Given the description of an element on the screen output the (x, y) to click on. 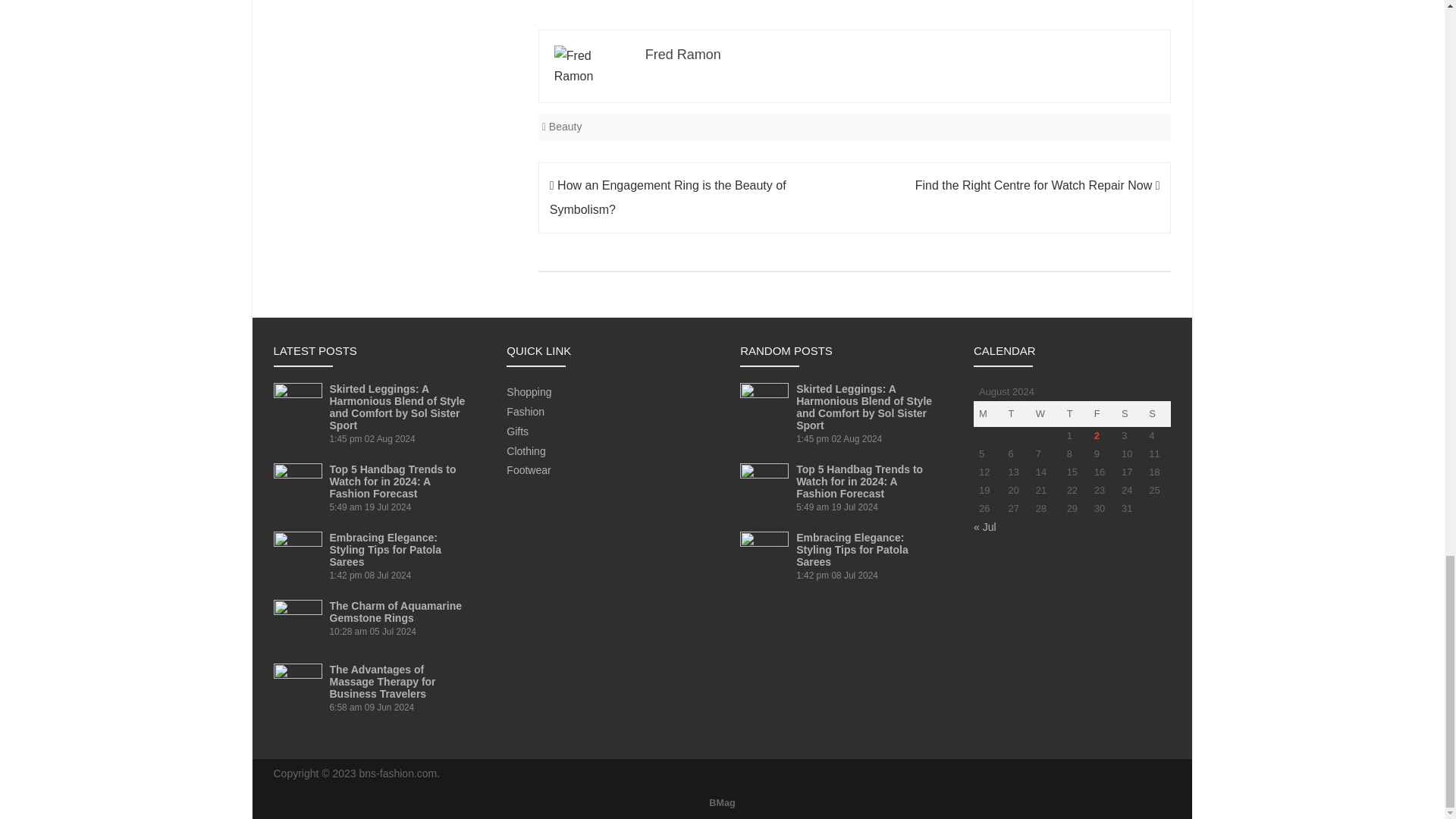
Tuesday (1016, 413)
Find the Right Centre for Watch Repair Now (1037, 185)
How an Engagement Ring is the Beauty of Symbolism? (668, 197)
Monday (988, 413)
Saturday (1129, 413)
Beauty (565, 126)
Wednesday (1045, 413)
Friday (1102, 413)
Fred Ramon (682, 54)
Thursday (1075, 413)
Sunday (1156, 413)
